Given the description of an element on the screen output the (x, y) to click on. 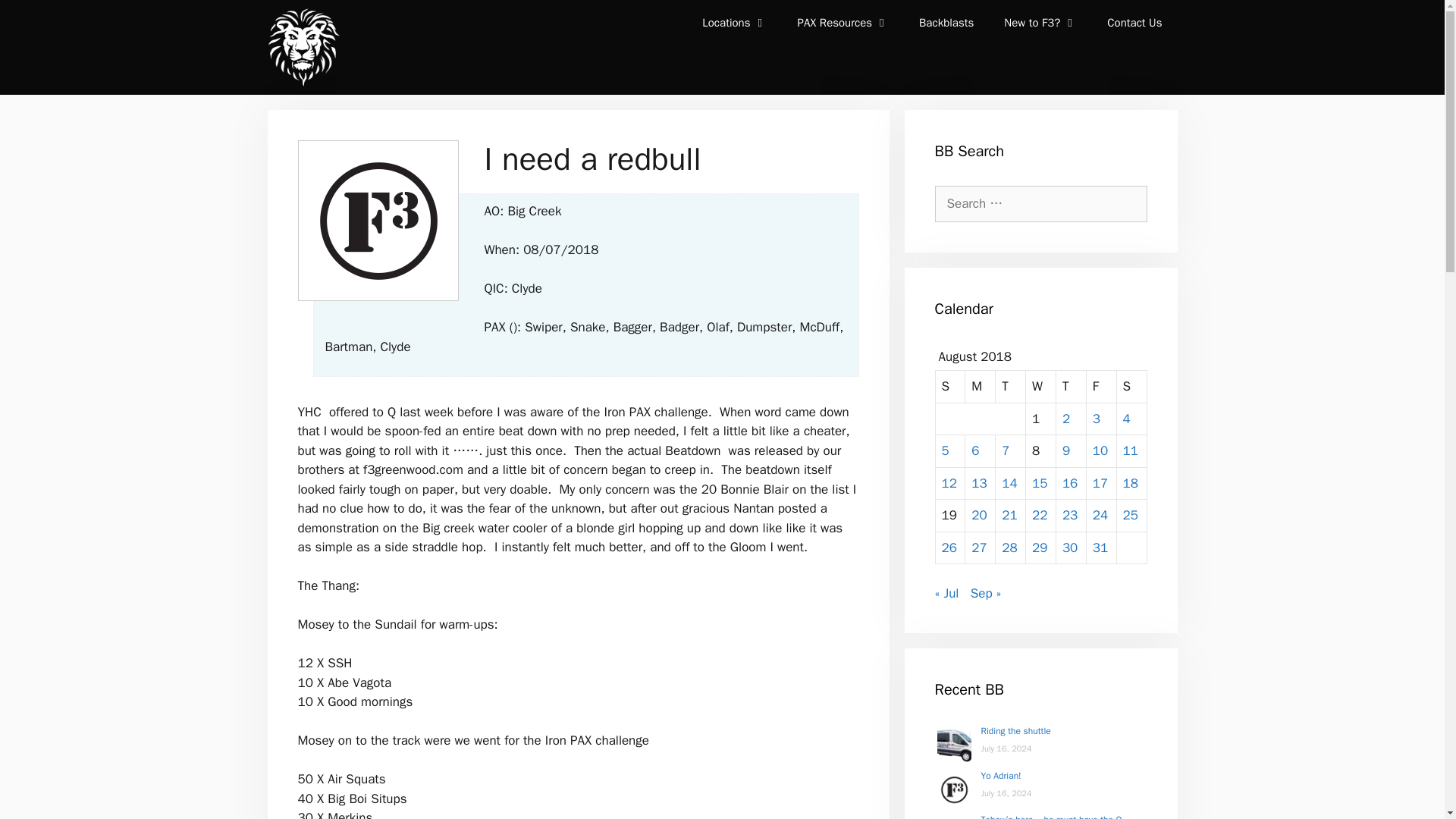
New to F3? (1040, 22)
Tuesday (1010, 387)
Sunday (951, 387)
Monday (980, 387)
Thursday (1071, 387)
Locations (734, 22)
Friday (1101, 387)
Contact Us (1134, 22)
F3Alpha (302, 47)
Search for: (1040, 203)
Saturday (1131, 387)
Wednesday (1041, 387)
PAX Resources (843, 22)
Backblasts (946, 22)
